Given the description of an element on the screen output the (x, y) to click on. 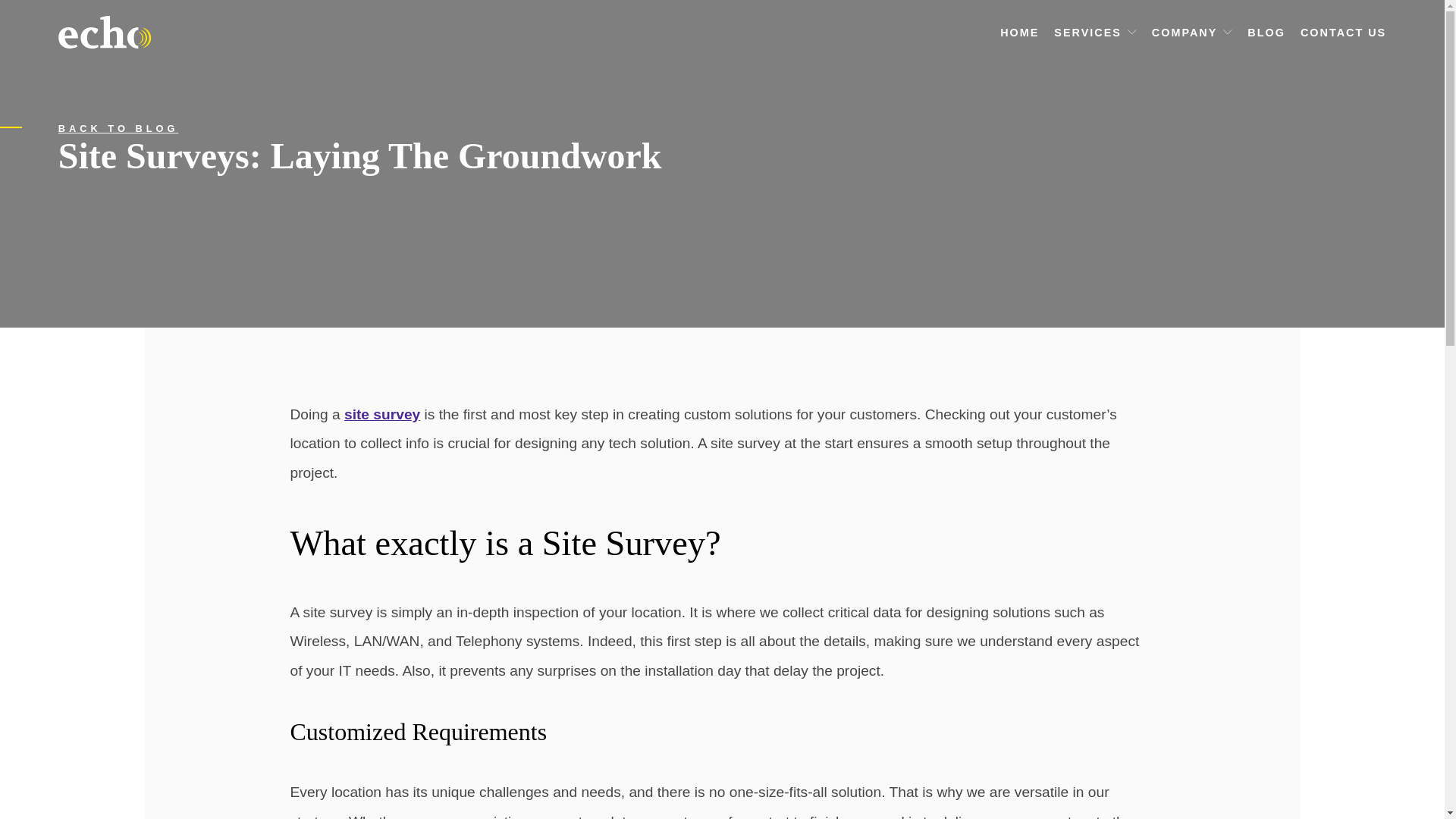
COMPANY (1184, 32)
SERVICES (1087, 32)
site survey (381, 414)
BACK TO BLOG (118, 128)
CONTACT US (1343, 32)
HOME (1019, 32)
BLOG (1266, 32)
